Given the description of an element on the screen output the (x, y) to click on. 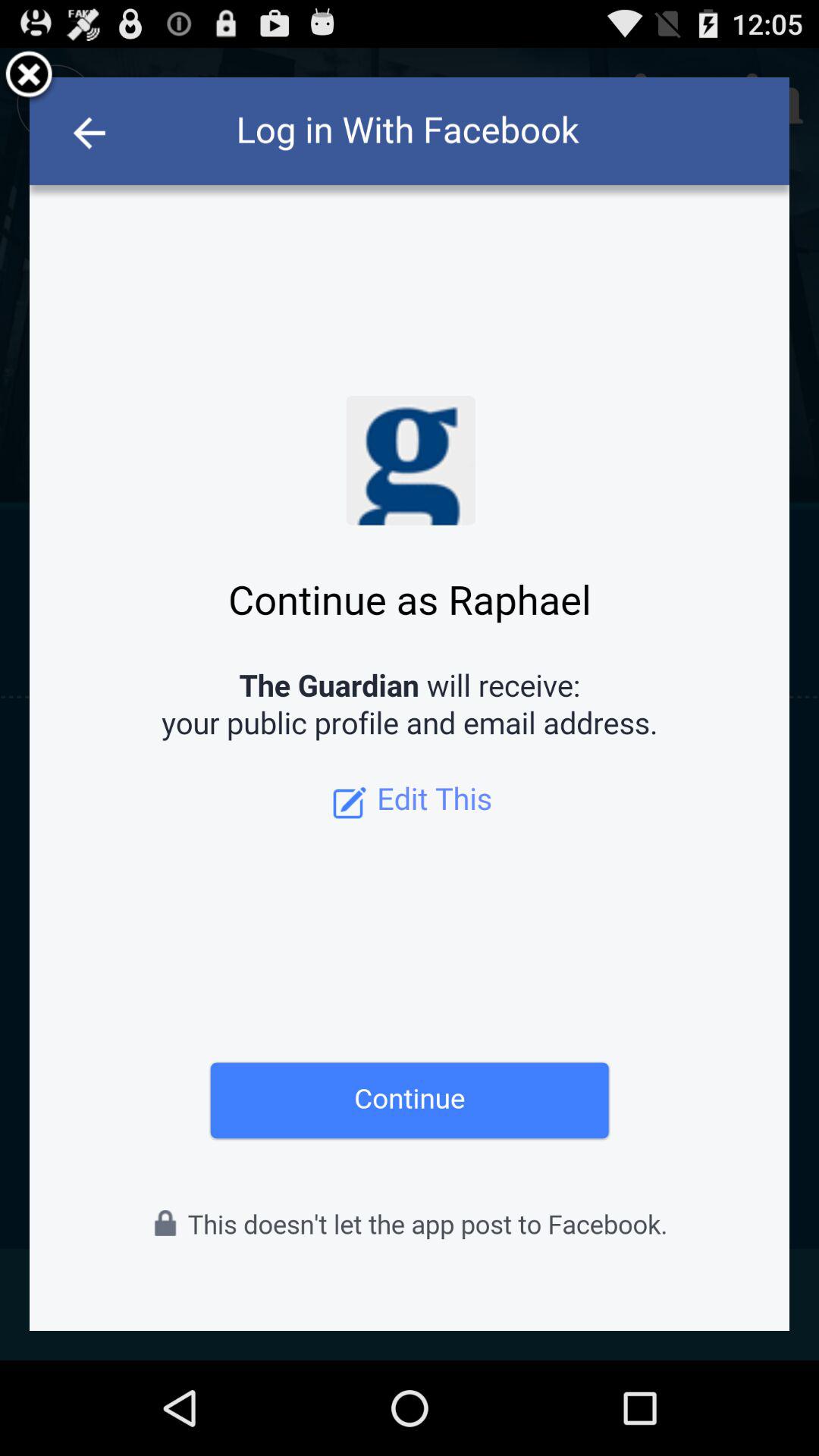
log in to facebook (409, 703)
